Given the description of an element on the screen output the (x, y) to click on. 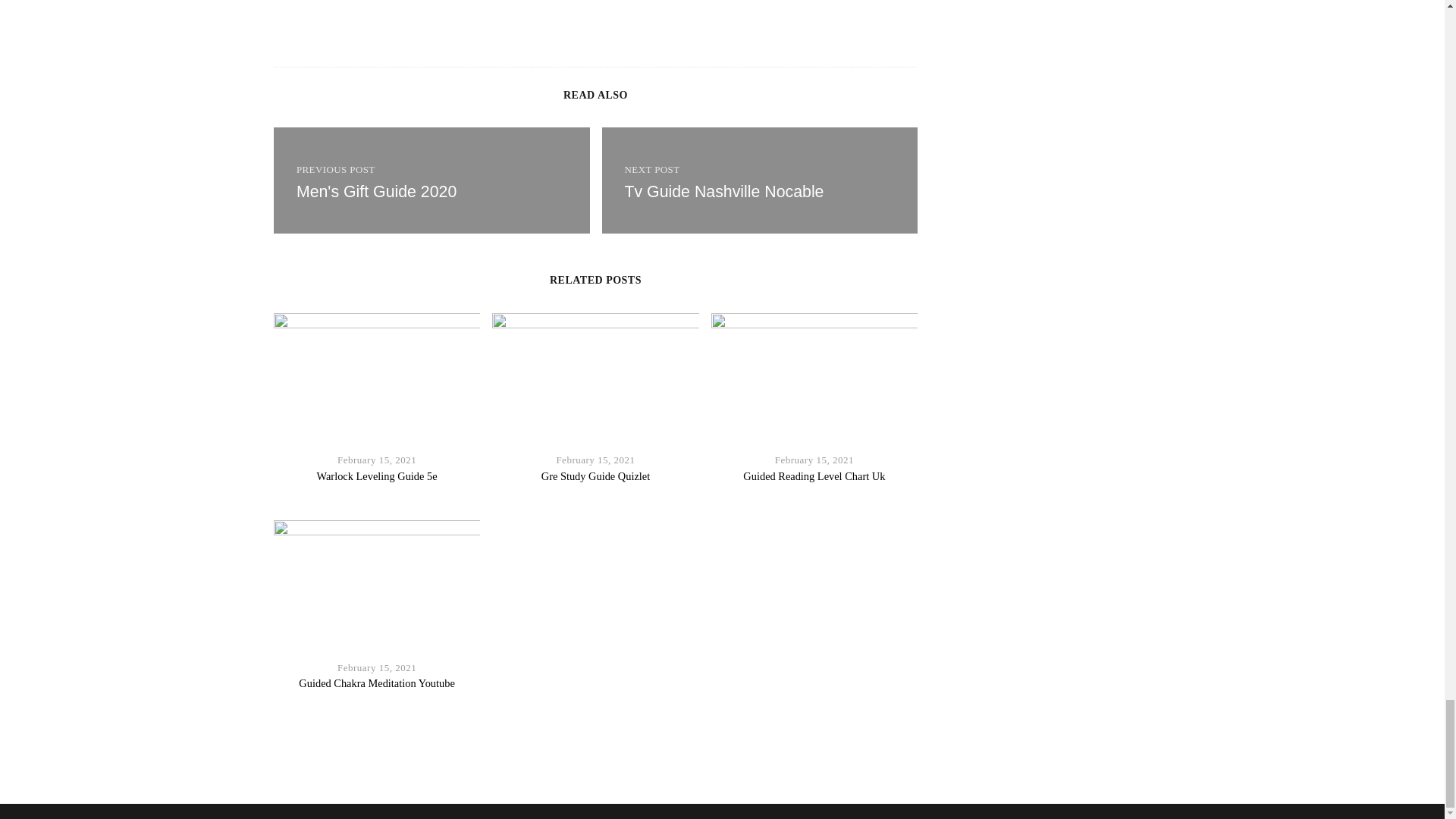
Men's Gift Guide 2020 (377, 191)
Tv Guide Nashville Nocable (724, 191)
Queen's Gambit Review Parents Guide (724, 191)
Tv Guide Nashville Nocable (760, 180)
Queen's Gambit Review Parents Guide (760, 180)
Queen's Gambit Review Parents Guide (431, 180)
Queen's Gambit Review Parents Guide (377, 191)
Gre Study Guide Quizlet (595, 476)
Warlock Leveling Guide 5e (377, 476)
Guided Reading Level Chart Uk (813, 476)
